Given the description of an element on the screen output the (x, y) to click on. 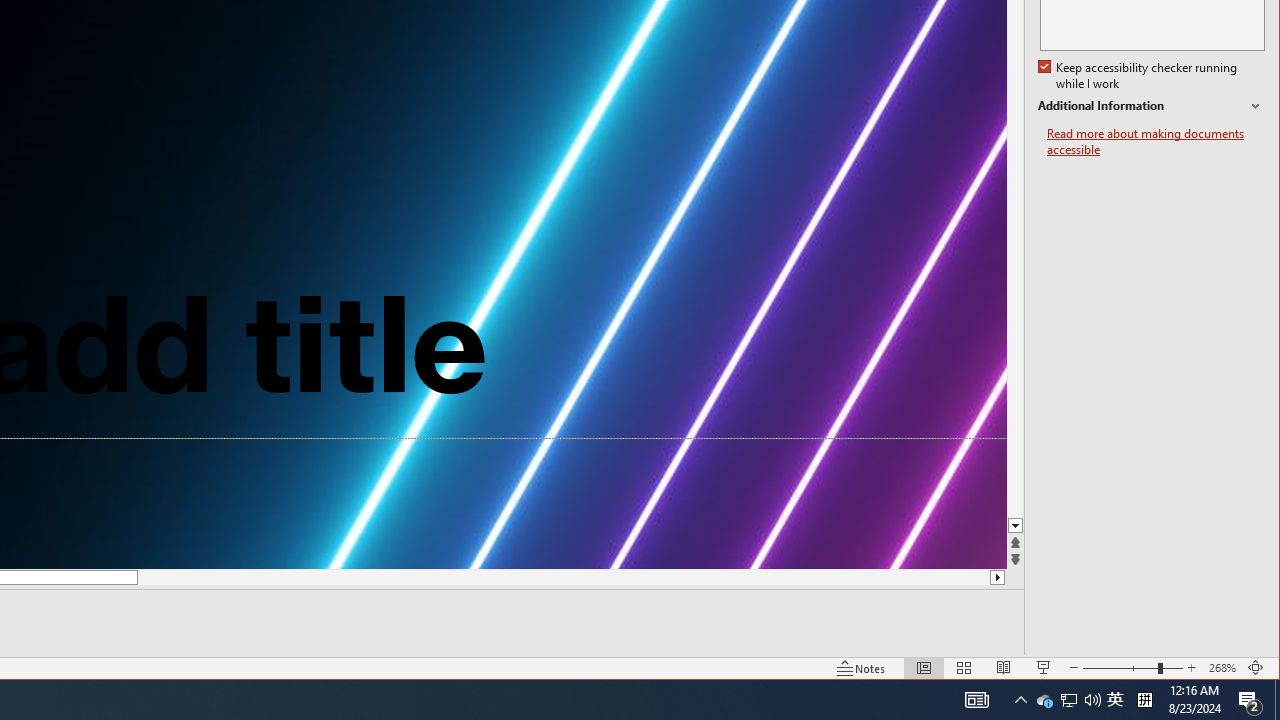
Action Center, 2 new notifications (1250, 699)
Notification Chevron (1069, 699)
Q2790: 100% (1044, 699)
